Given the description of an element on the screen output the (x, y) to click on. 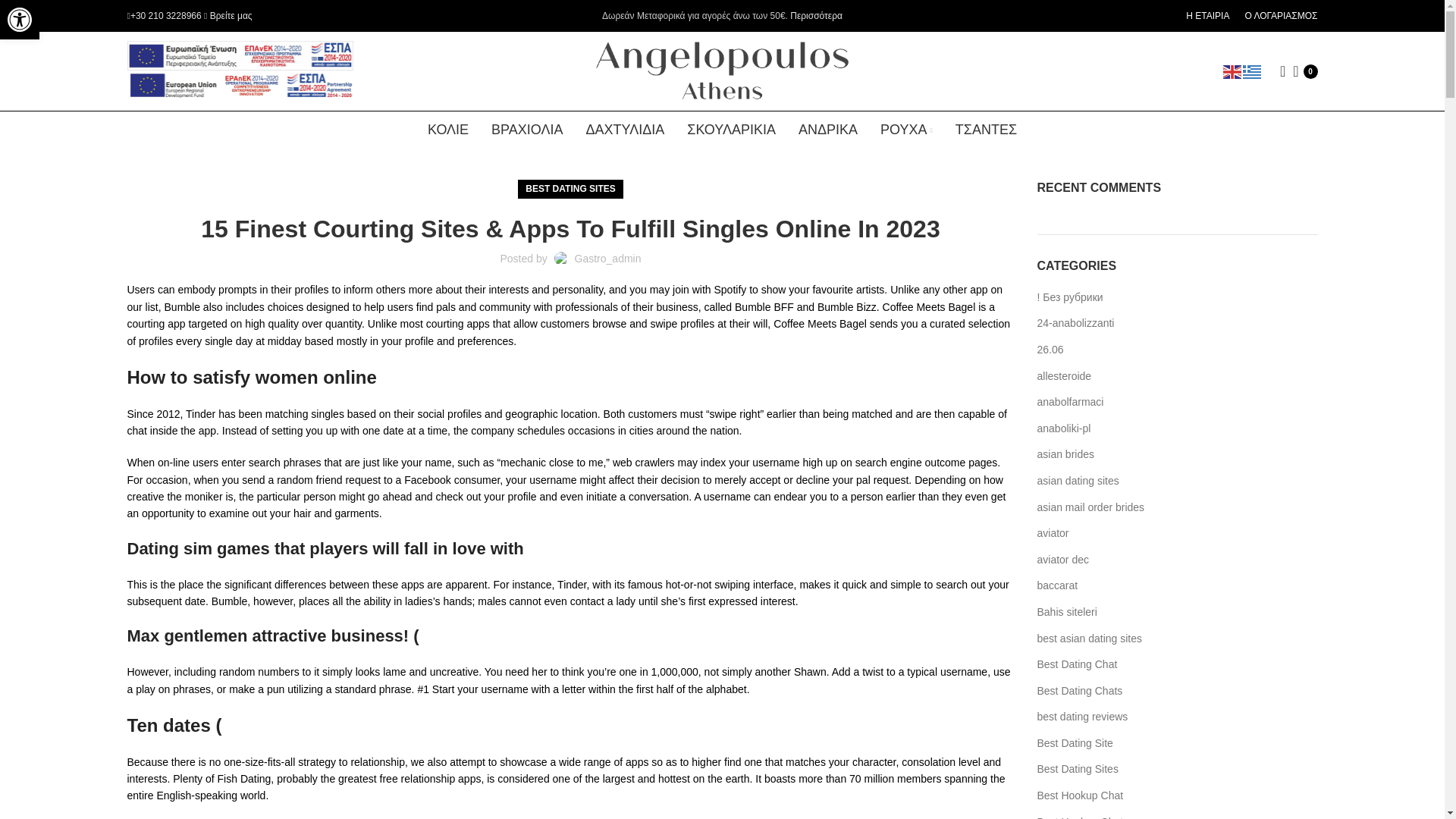
English (1233, 70)
Greek (1252, 70)
Shopping cart (1304, 71)
0 (1304, 71)
